Given the description of an element on the screen output the (x, y) to click on. 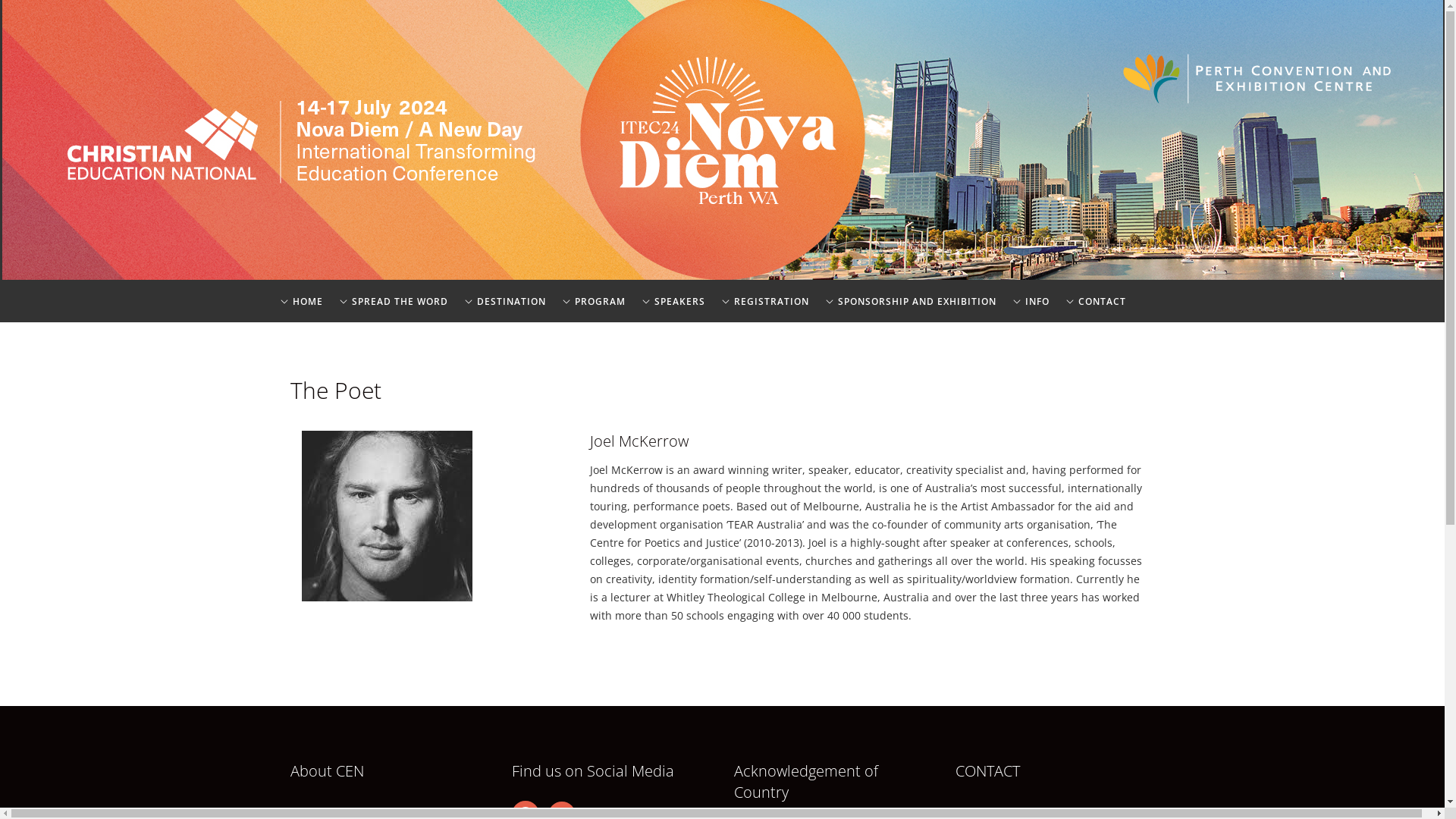
PROGRAM Element type: text (593, 311)
HOME Element type: text (301, 311)
SPREAD THE WORD Element type: text (393, 311)
REGISTRATION Element type: text (764, 311)
SPONSORSHIP AND EXHIBITION Element type: text (910, 311)
INFO Element type: text (1030, 311)
SPEAKERS Element type: text (672, 311)
CONTACT Element type: text (1095, 311)
DESTINATION Element type: text (504, 311)
